Given the description of an element on the screen output the (x, y) to click on. 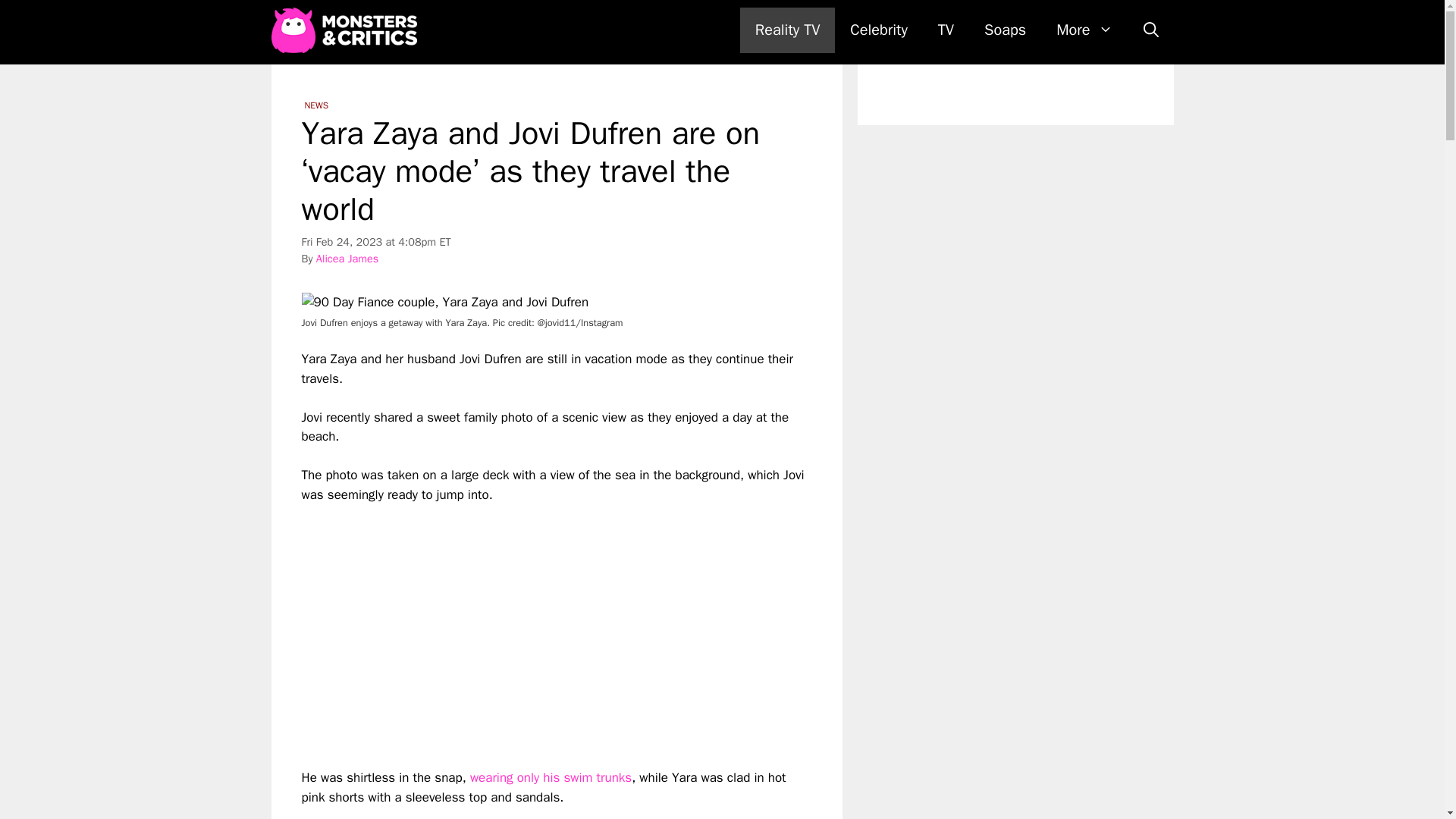
Alicea James (346, 258)
Monsters and Critics (343, 30)
More (1083, 30)
View all posts by Alicea James (346, 258)
Celebrity (877, 30)
wearing only his swim trunks (550, 777)
Soaps (1005, 30)
Monsters and Critics (347, 30)
TV (946, 30)
YouTube video player (513, 623)
